Given the description of an element on the screen output the (x, y) to click on. 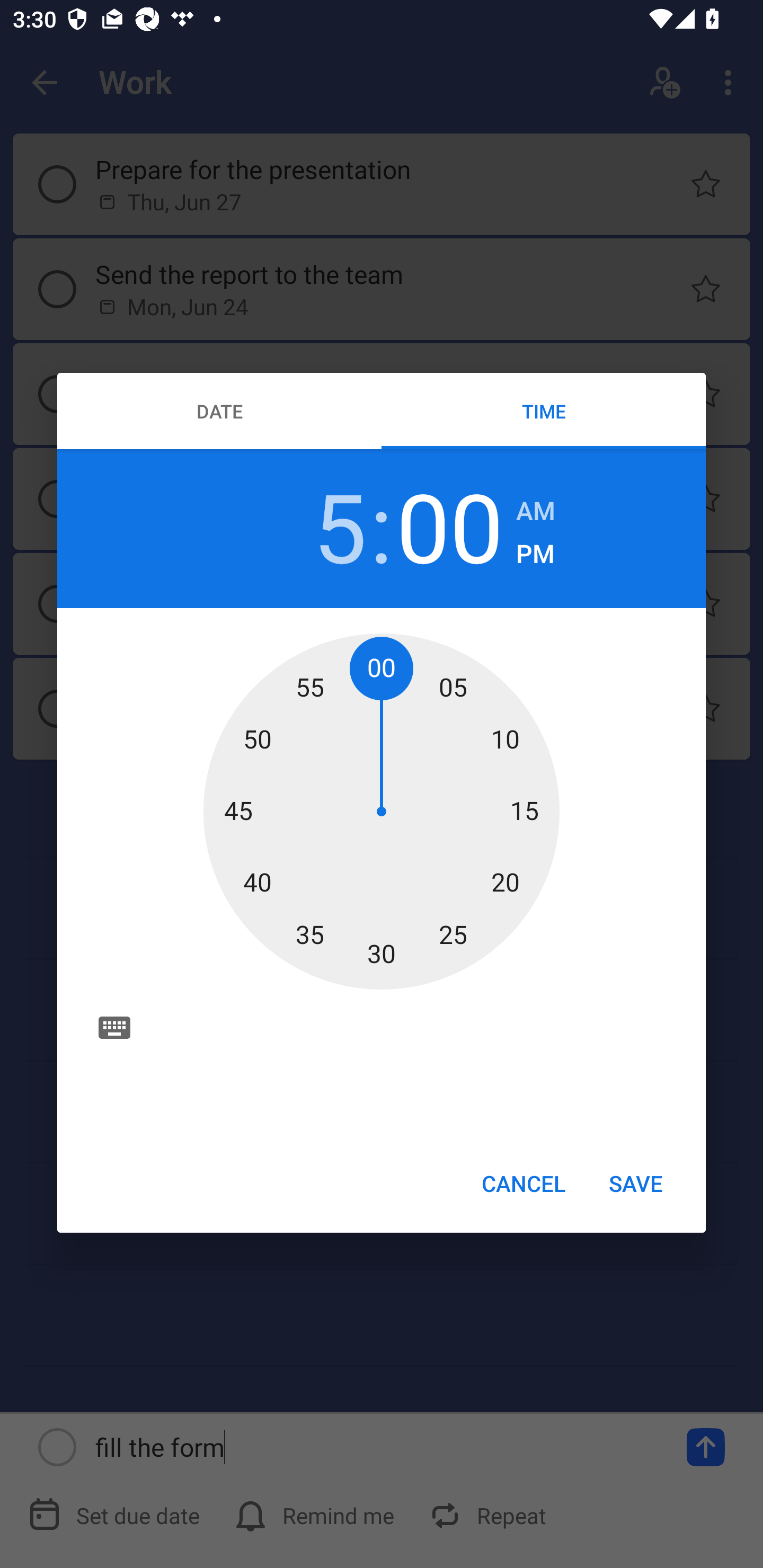
SAVE (635, 1182)
